Given the description of an element on the screen output the (x, y) to click on. 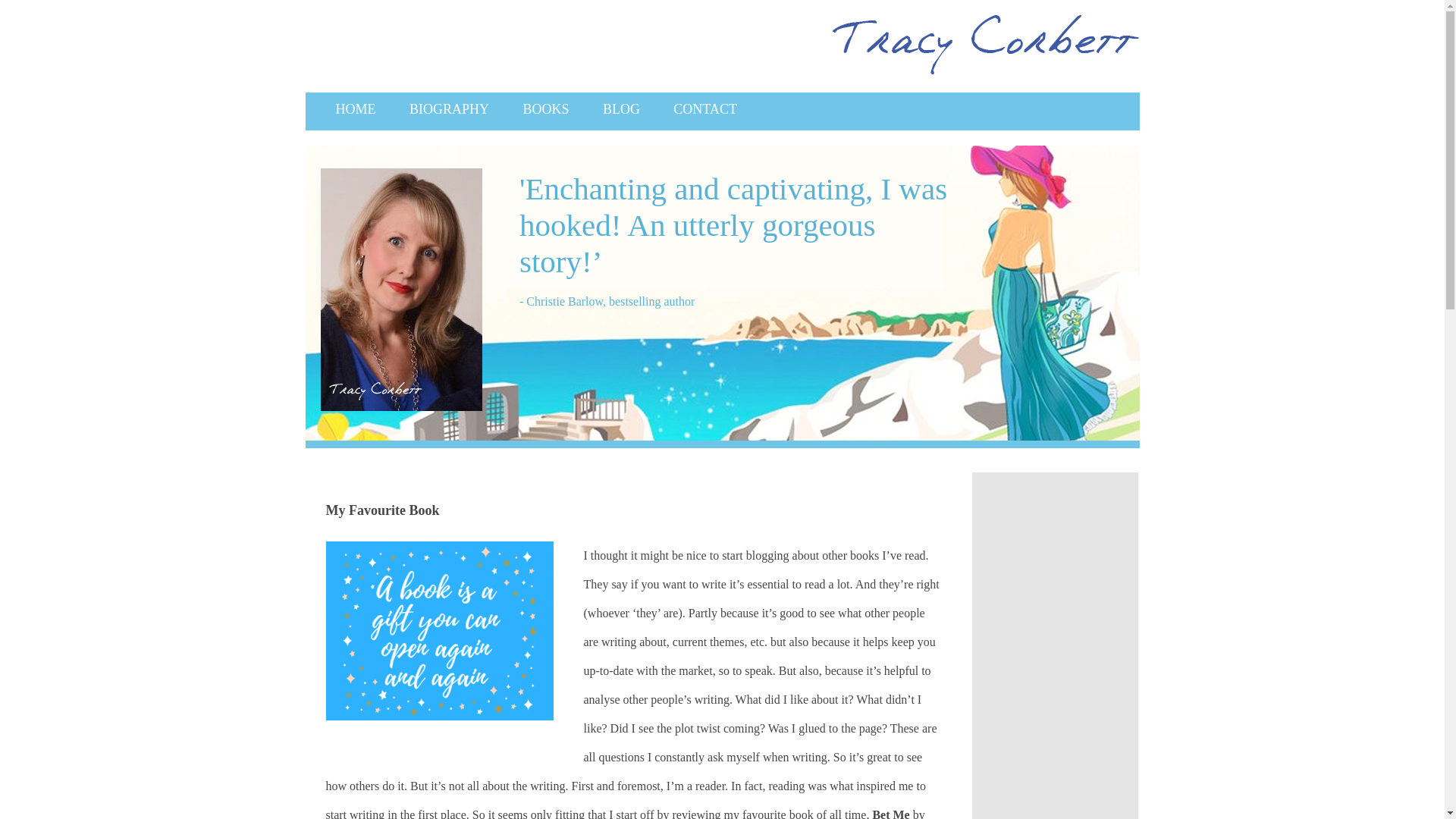
BLOG (621, 109)
BIOGRAPHY (448, 109)
HOME (355, 109)
CONTACT (705, 109)
BOOKS (544, 109)
